Given the description of an element on the screen output the (x, y) to click on. 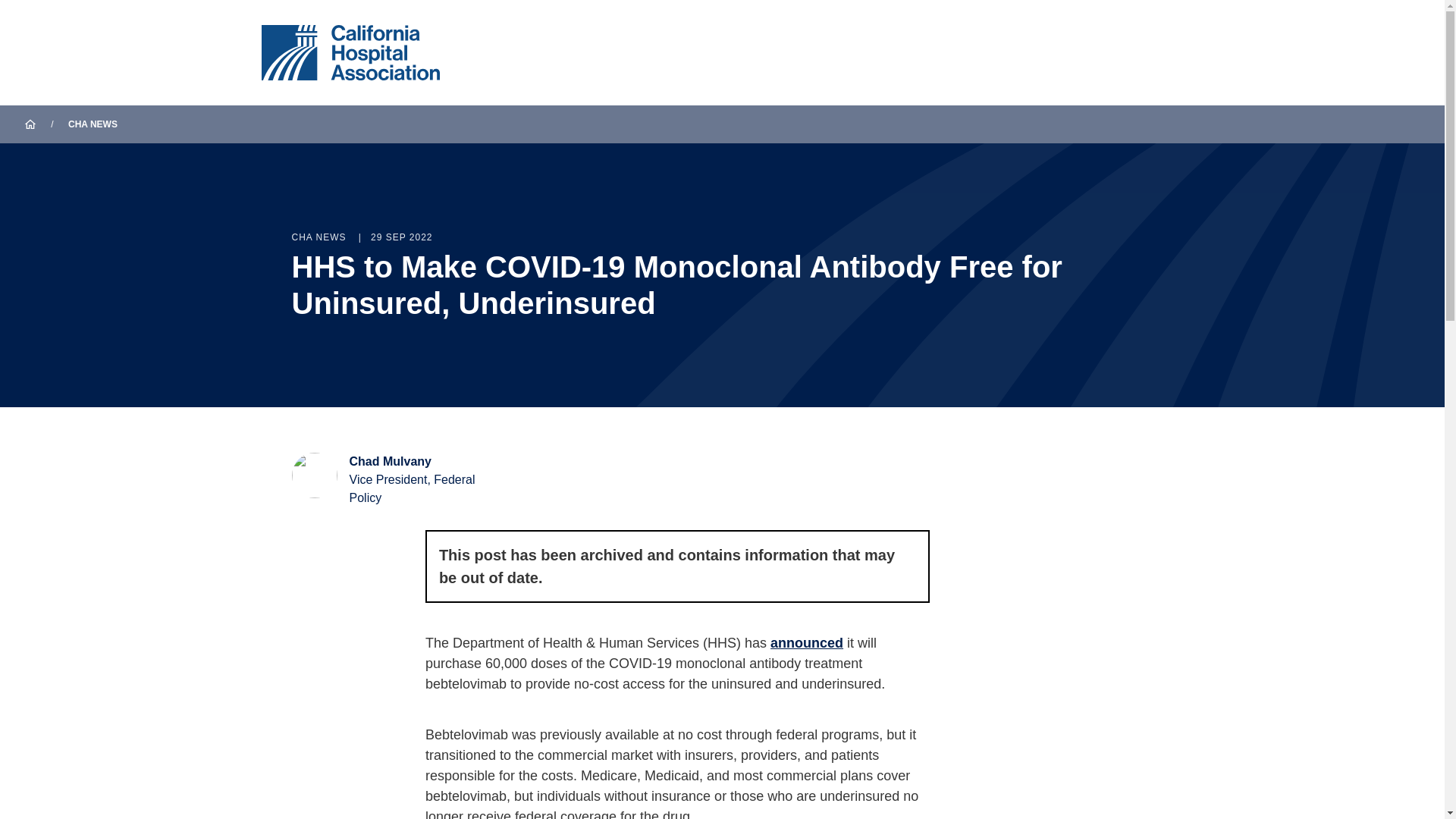
CHA NEWS (92, 124)
Chad Mulvany (389, 461)
